Given the description of an element on the screen output the (x, y) to click on. 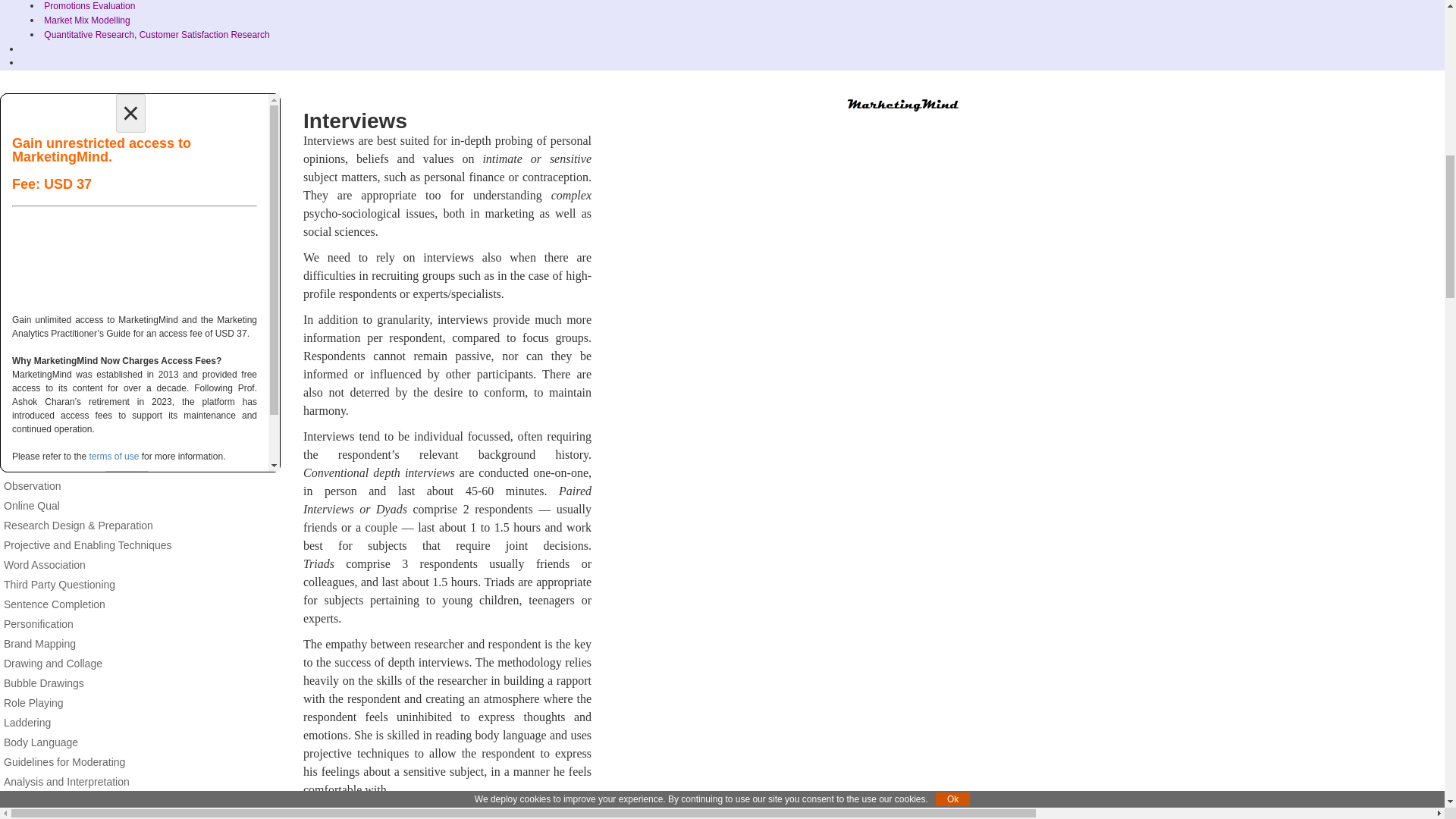
PayPal (134, 262)
MM - Marketing Mind: Online guide to Marketing Management (903, 106)
Enter email. (134, 187)
